Given the description of an element on the screen output the (x, y) to click on. 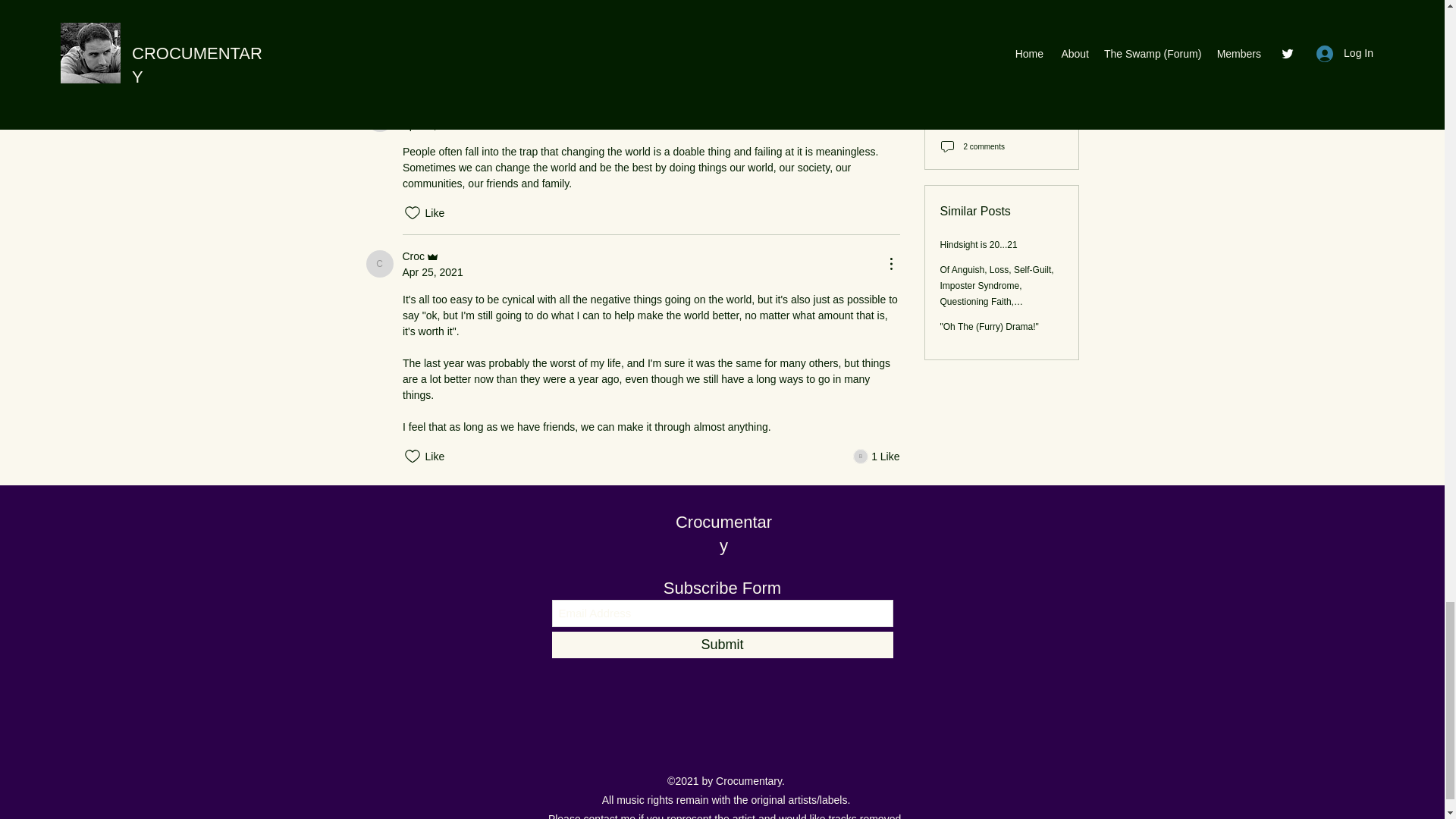
C (379, 263)
Beastly Drohan (876, 456)
Write a comment... (379, 117)
Croc (471, 82)
B (632, 33)
Crocumentary (421, 256)
Croc (379, 117)
Beastly Drohan (723, 533)
Beastly Drohan (379, 263)
Submit (860, 456)
